Given the description of an element on the screen output the (x, y) to click on. 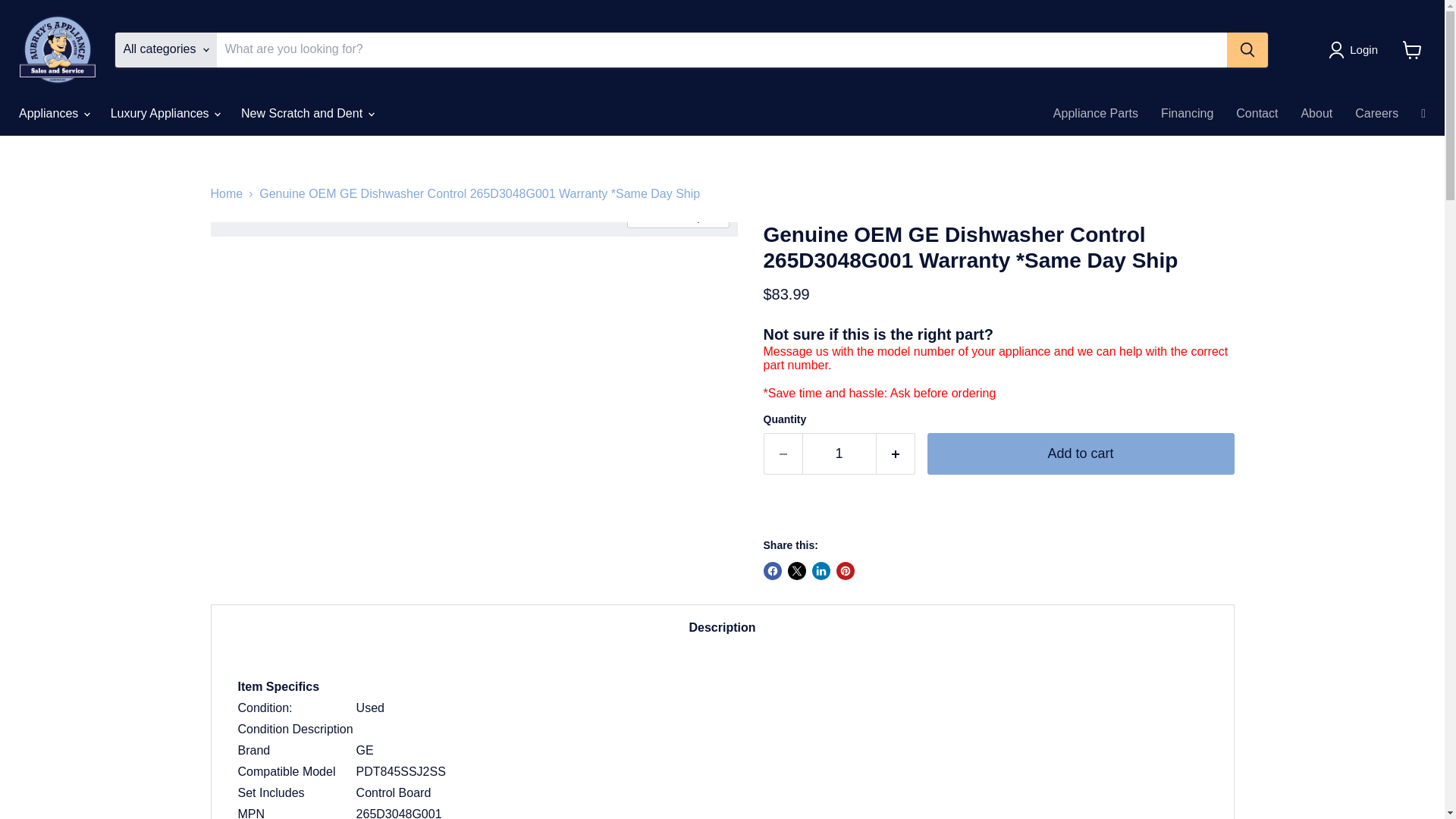
1 (839, 454)
Login (1355, 49)
View cart (1411, 49)
